Given the description of an element on the screen output the (x, y) to click on. 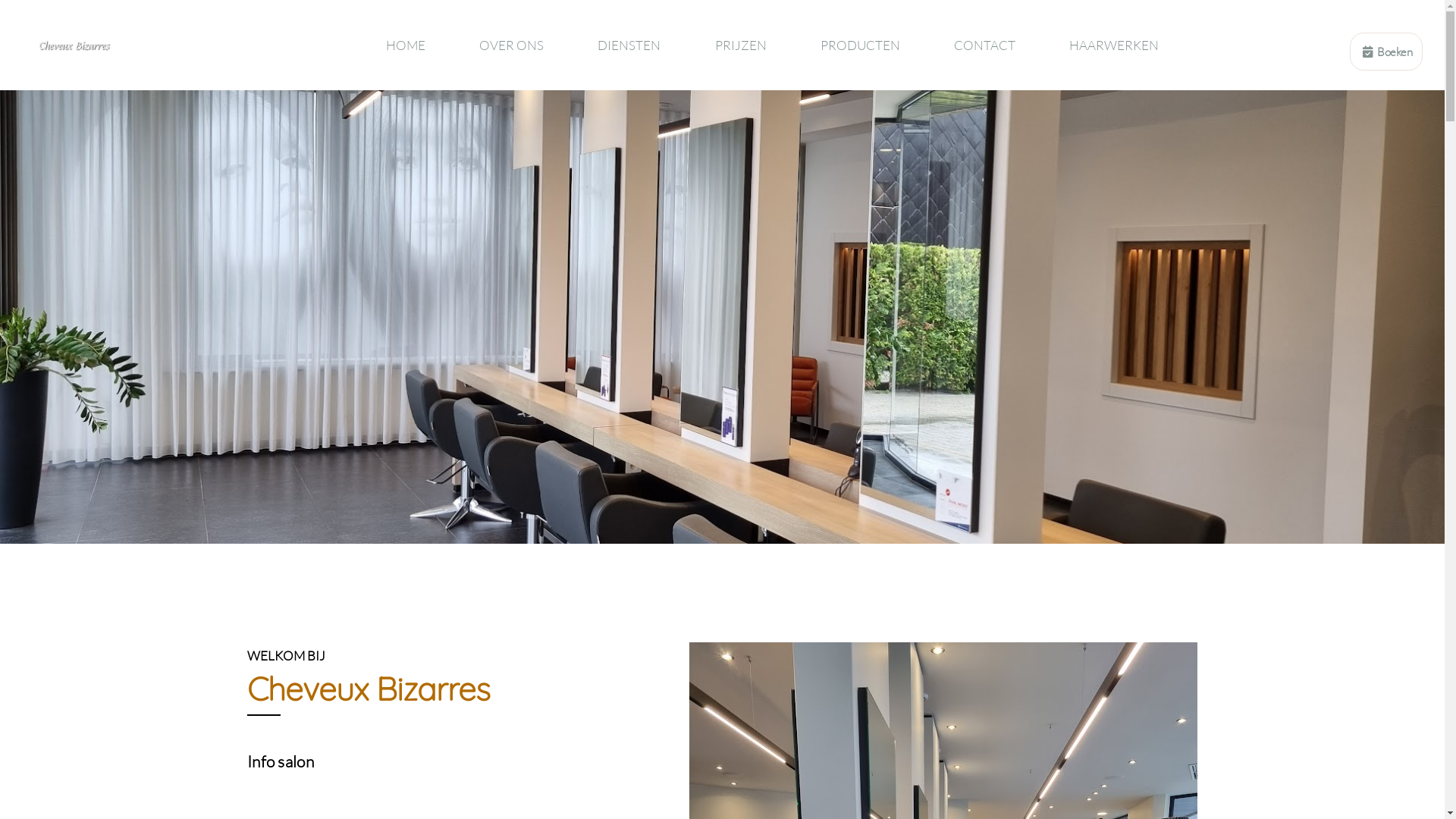
OVER ONS Element type: text (511, 45)
PRODUCTEN Element type: text (859, 45)
Boeken Element type: text (1385, 51)
HAARWERKEN Element type: text (1113, 45)
HOME Element type: text (405, 45)
CONTACT Element type: text (984, 45)
PRIJZEN Element type: text (740, 45)
DIENSTEN Element type: text (629, 45)
